Given the description of an element on the screen output the (x, y) to click on. 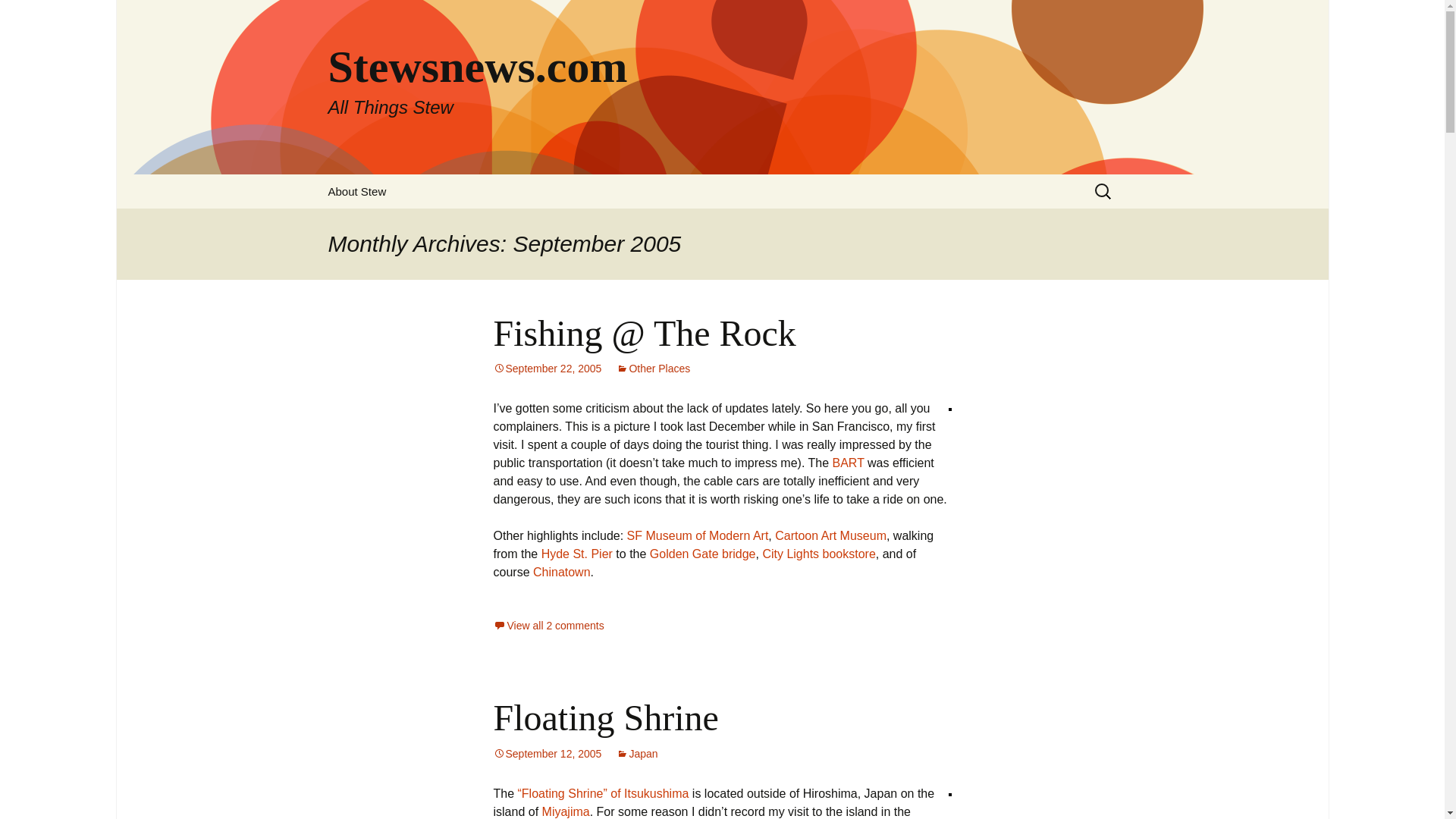
SF Museum of Modern Art (697, 535)
Other Places (652, 368)
Cartoon Art Museum (830, 535)
City Lights bookstore (818, 553)
BART (848, 462)
About Stew (357, 191)
September 22, 2005 (547, 368)
View all 2 comments (548, 625)
Floating Shrine (605, 717)
